Given the description of an element on the screen output the (x, y) to click on. 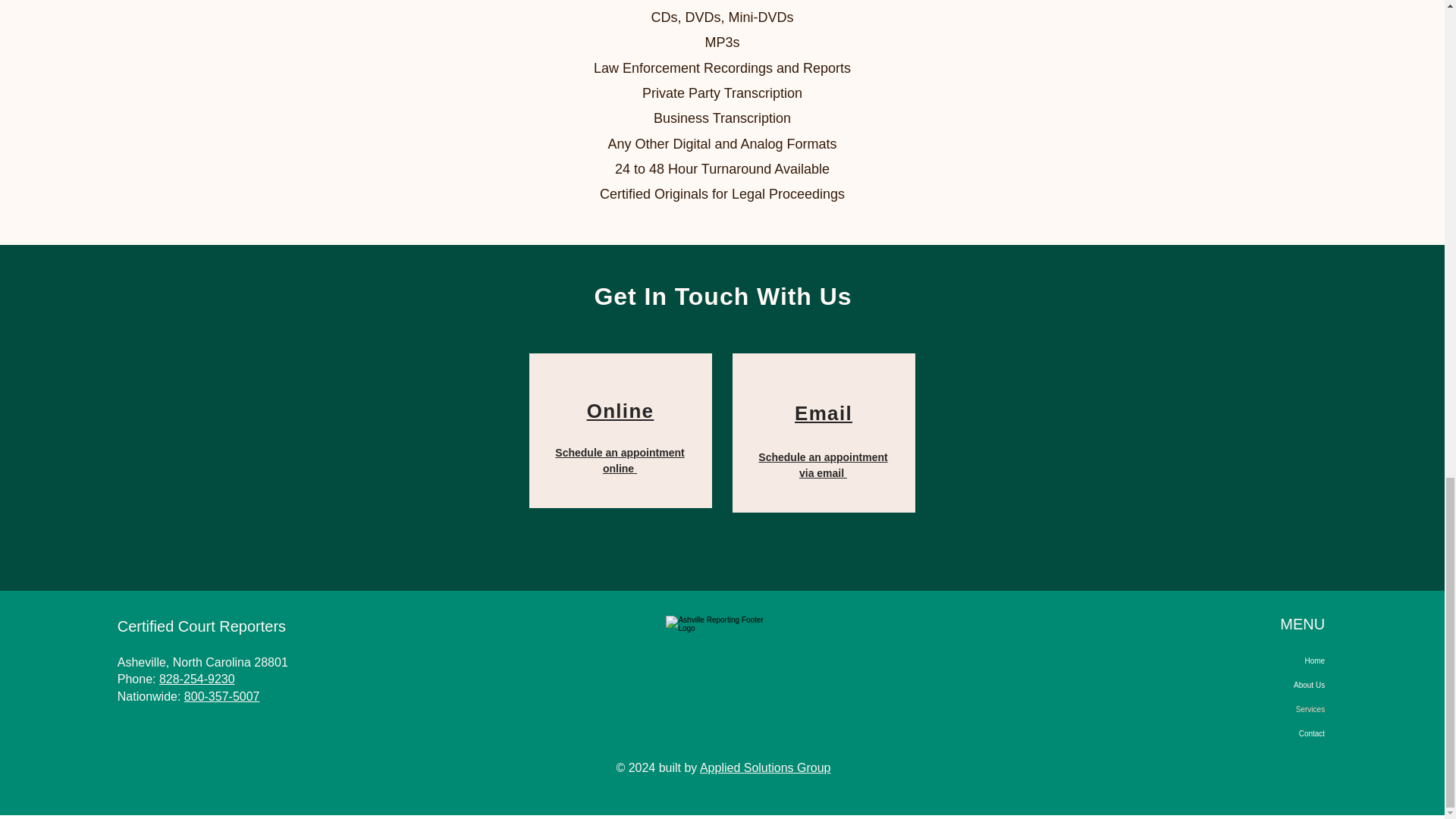
Online (619, 410)
800-357-5007 (222, 696)
Contact (1252, 733)
Home (1252, 661)
logo.webp (721, 654)
Email (822, 413)
About Us (1252, 685)
Applied Solutions Group (765, 767)
828-254-9230 (196, 678)
Schedule an appointment online  (619, 460)
